Given the description of an element on the screen output the (x, y) to click on. 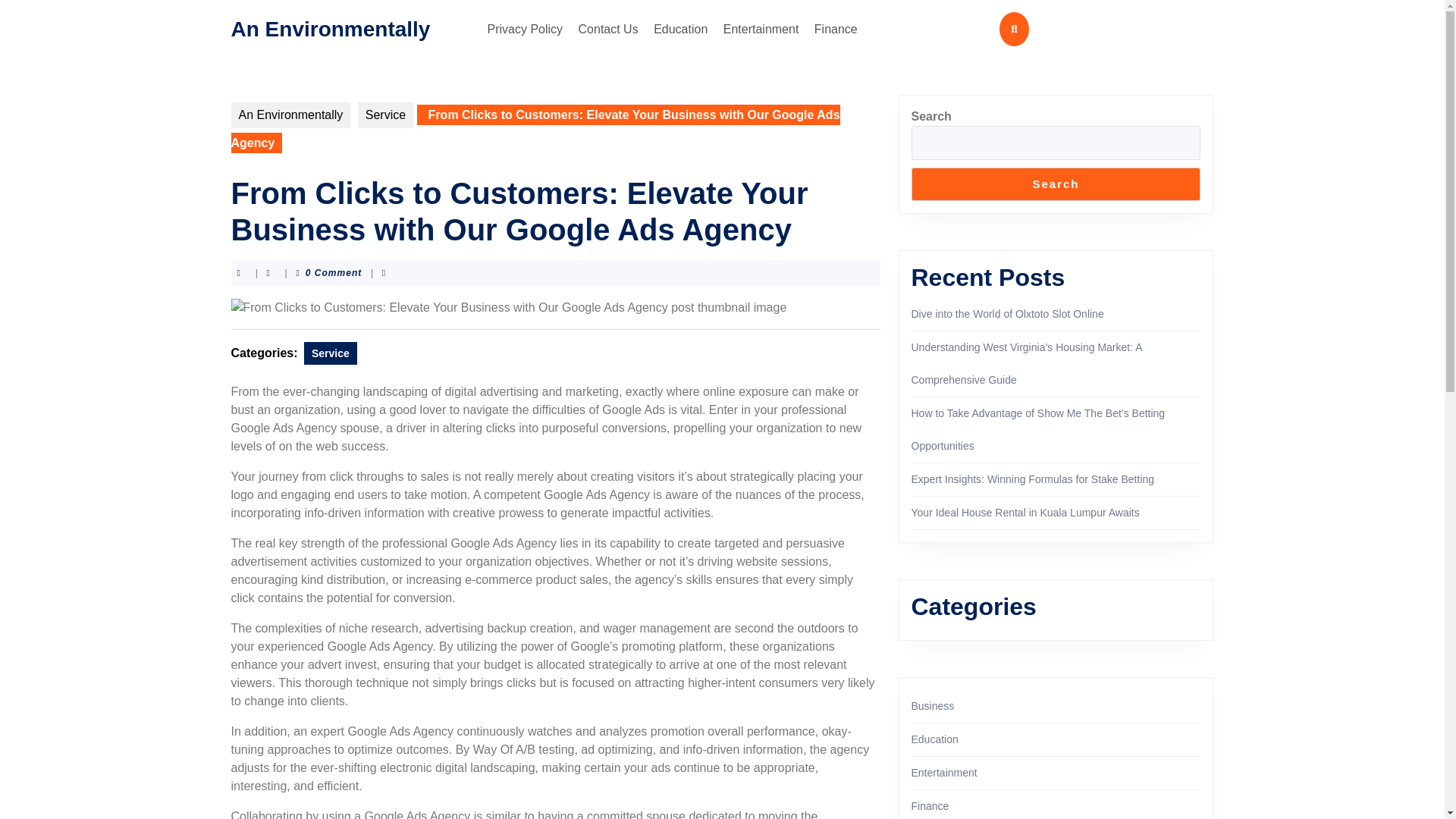
Expert Insights: Winning Formulas for Stake Betting (1032, 479)
An Environmentally (329, 28)
Dive into the World of Olxtoto Slot Online (1007, 313)
Privacy Policy (524, 28)
Search (1056, 183)
Entertainment (761, 28)
Education (680, 28)
Contact Us (608, 28)
Service (385, 114)
An Environmentally (290, 114)
Finance (835, 28)
Service (330, 353)
